Given the description of an element on the screen output the (x, y) to click on. 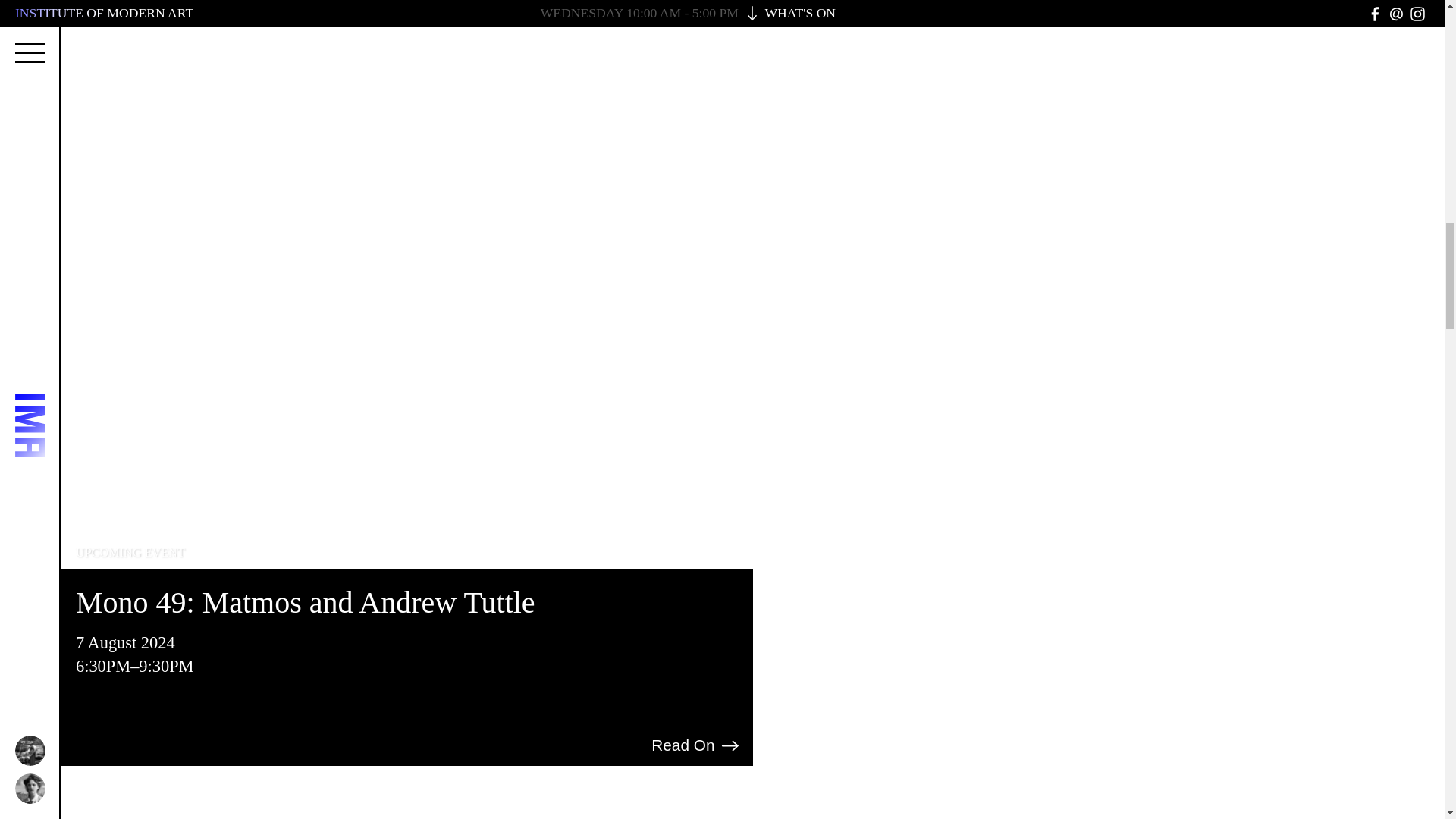
Read On (695, 745)
Mono 49: Matmos and Andrew Tuttle (305, 602)
